Given the description of an element on the screen output the (x, y) to click on. 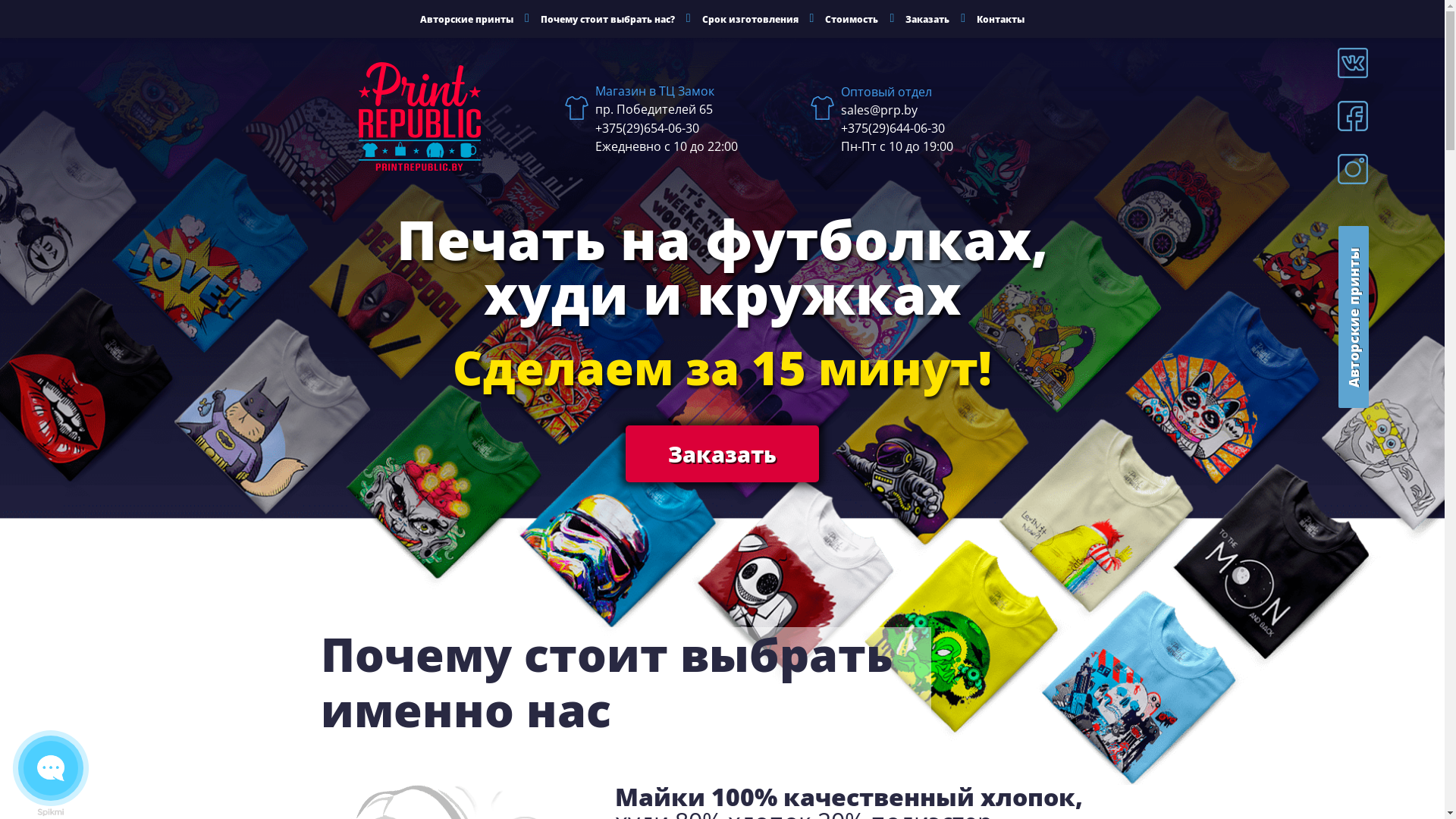
+375(29)654-06-30 Element type: text (717, 128)
sales@prp.by Element type: text (962, 109)
+375(29)644-06-30 Element type: text (962, 127)
